Given the description of an element on the screen output the (x, y) to click on. 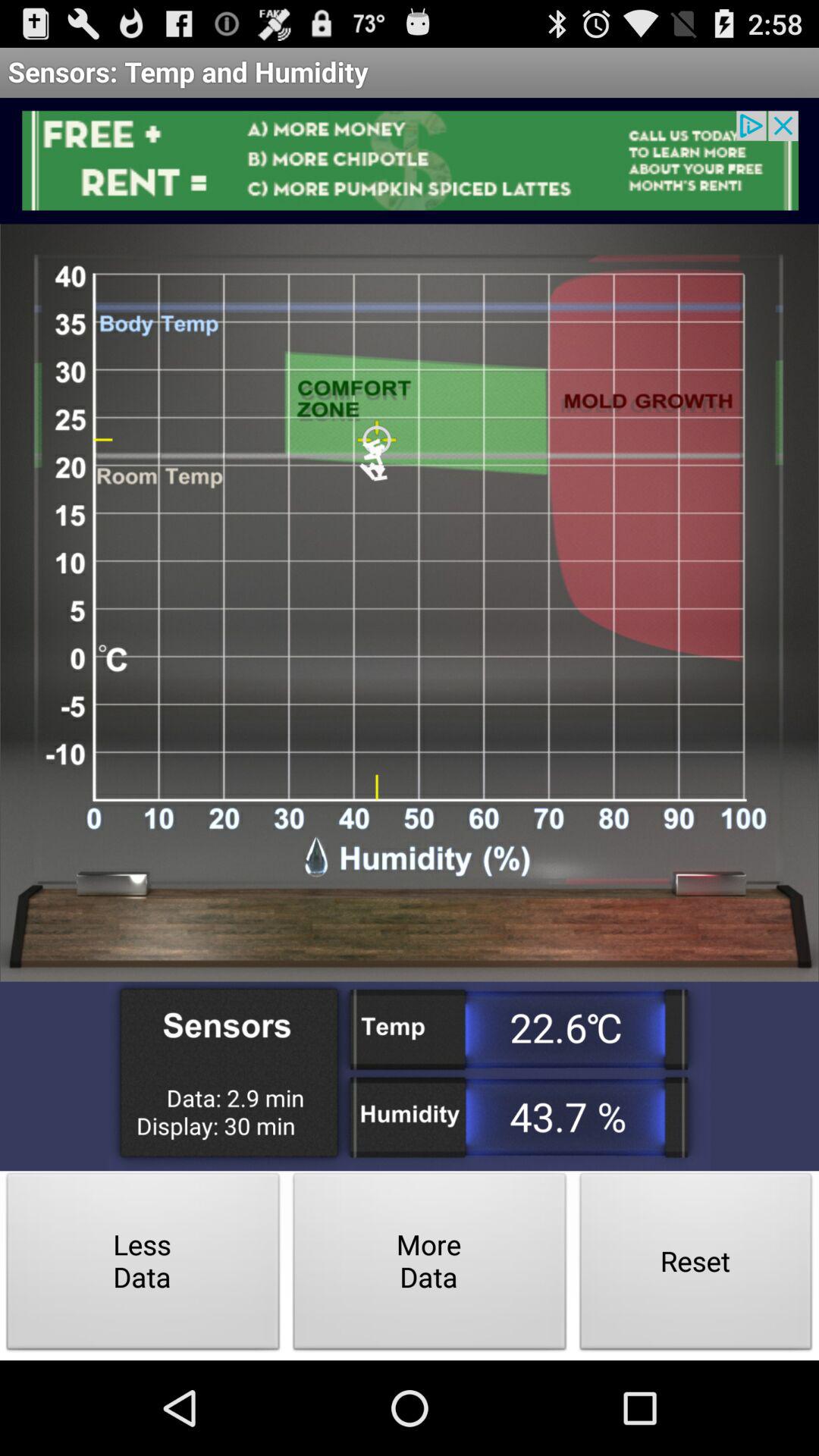
click the item to the right of the more
data icon (696, 1265)
